Given the description of an element on the screen output the (x, y) to click on. 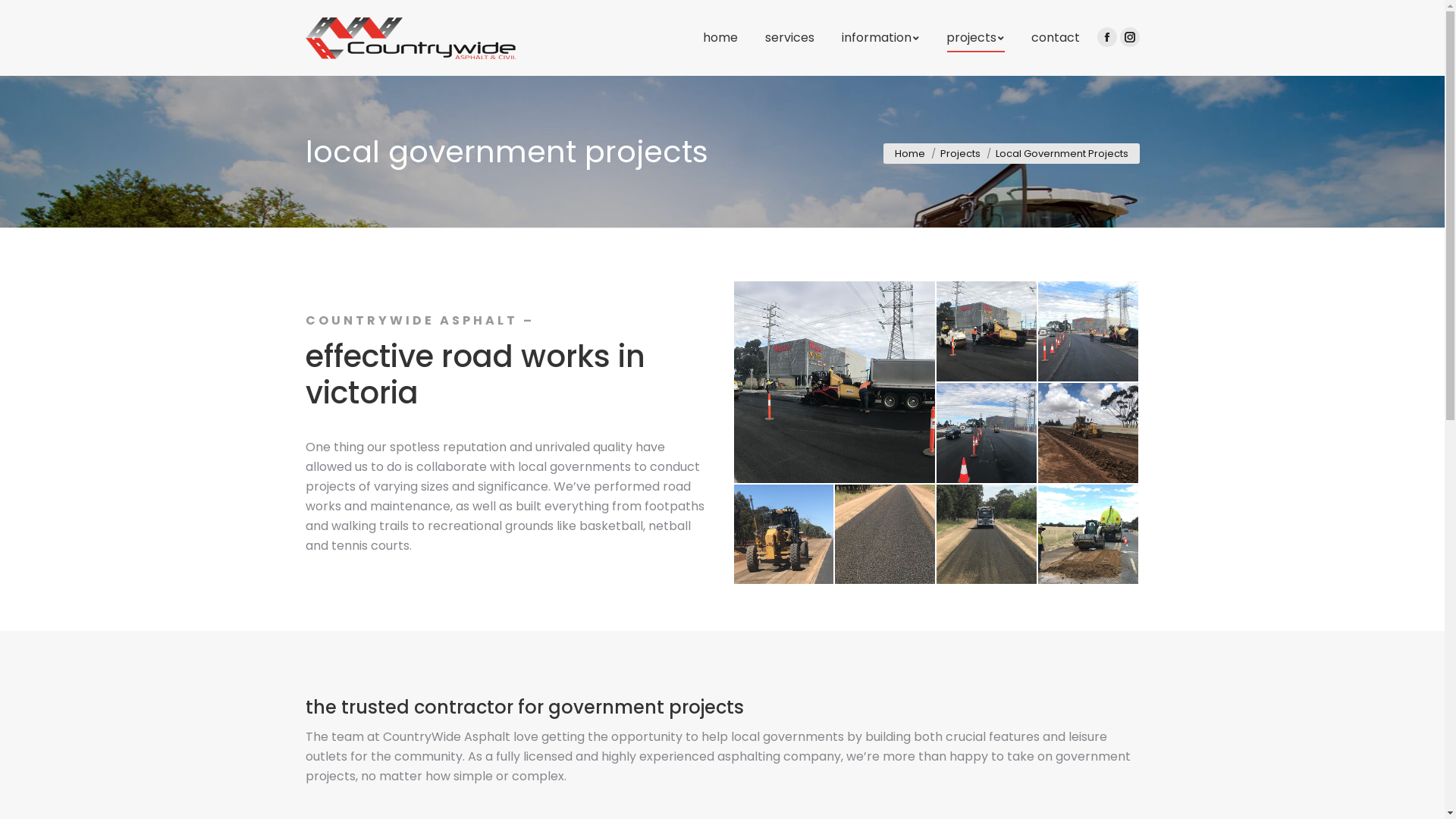
contact Element type: text (1055, 37)
Local Government - Grader 2 Element type: hover (784, 534)
Local Government - Jet Patcher 1 Element type: hover (885, 534)
Instagram Element type: text (1129, 37)
services Element type: text (788, 37)
Local Government Various Patching Element type: hover (1088, 534)
Local Government - Jet Patcher 2 Element type: hover (987, 534)
Facebook Element type: text (1106, 37)
home Element type: text (719, 37)
projects Element type: text (975, 37)
Projects Element type: text (960, 153)
Local Government Various Patching Element type: hover (1088, 533)
Home Element type: text (909, 153)
information Element type: text (880, 37)
Local Government - Project Completed Element type: hover (987, 433)
Local Government - Paver and Roller Element type: hover (987, 331)
Local Government - Grader 1 Element type: hover (1088, 433)
Local Government - Paving Crew Element type: hover (1088, 331)
Local Government - Loading the Hotmix Element type: hover (835, 382)
